Given the description of an element on the screen output the (x, y) to click on. 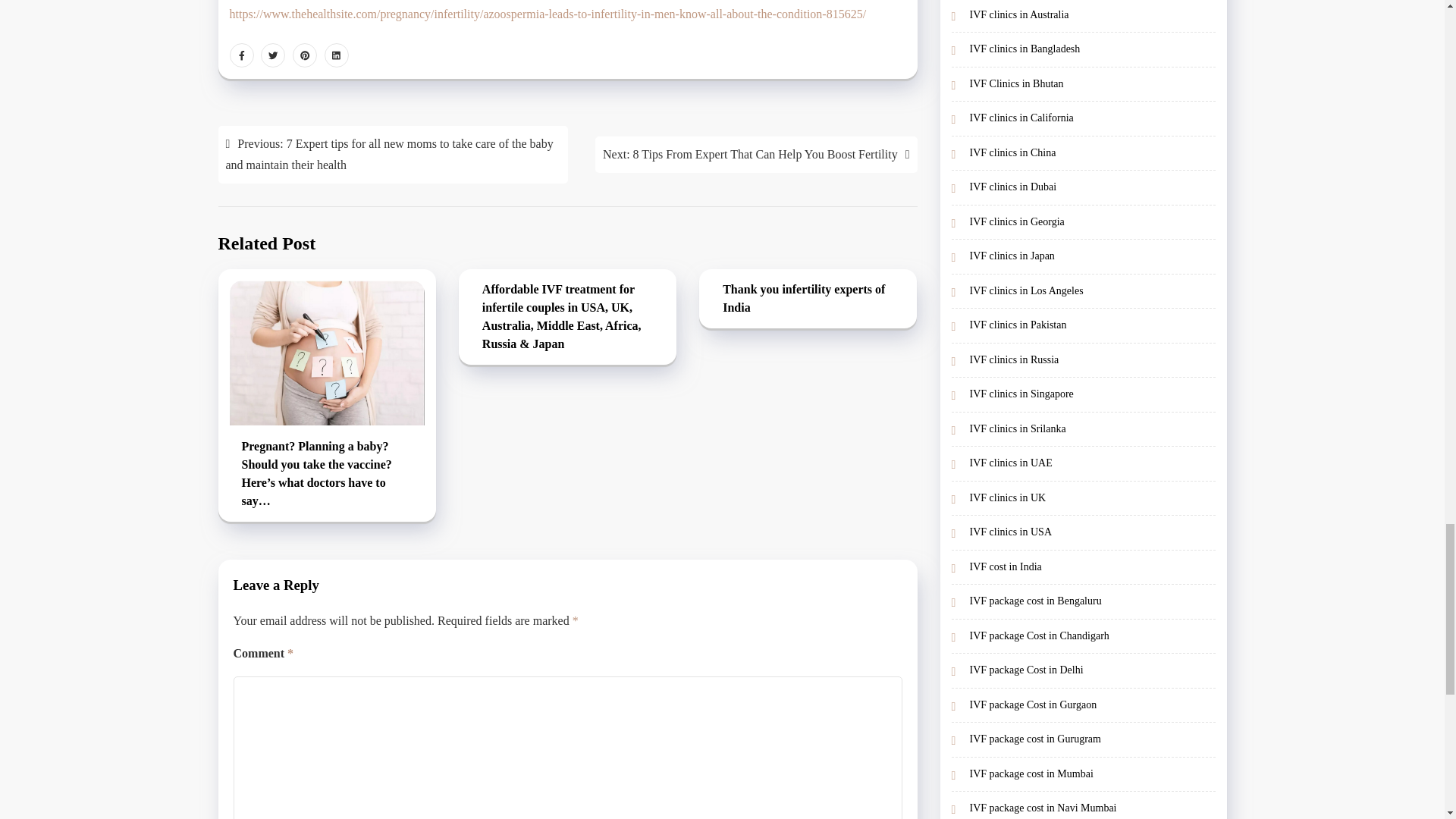
Next: 8 Tips From Expert That Can Help You Boost Fertility (756, 154)
Thank you infertility experts of India (807, 299)
